Given the description of an element on the screen output the (x, y) to click on. 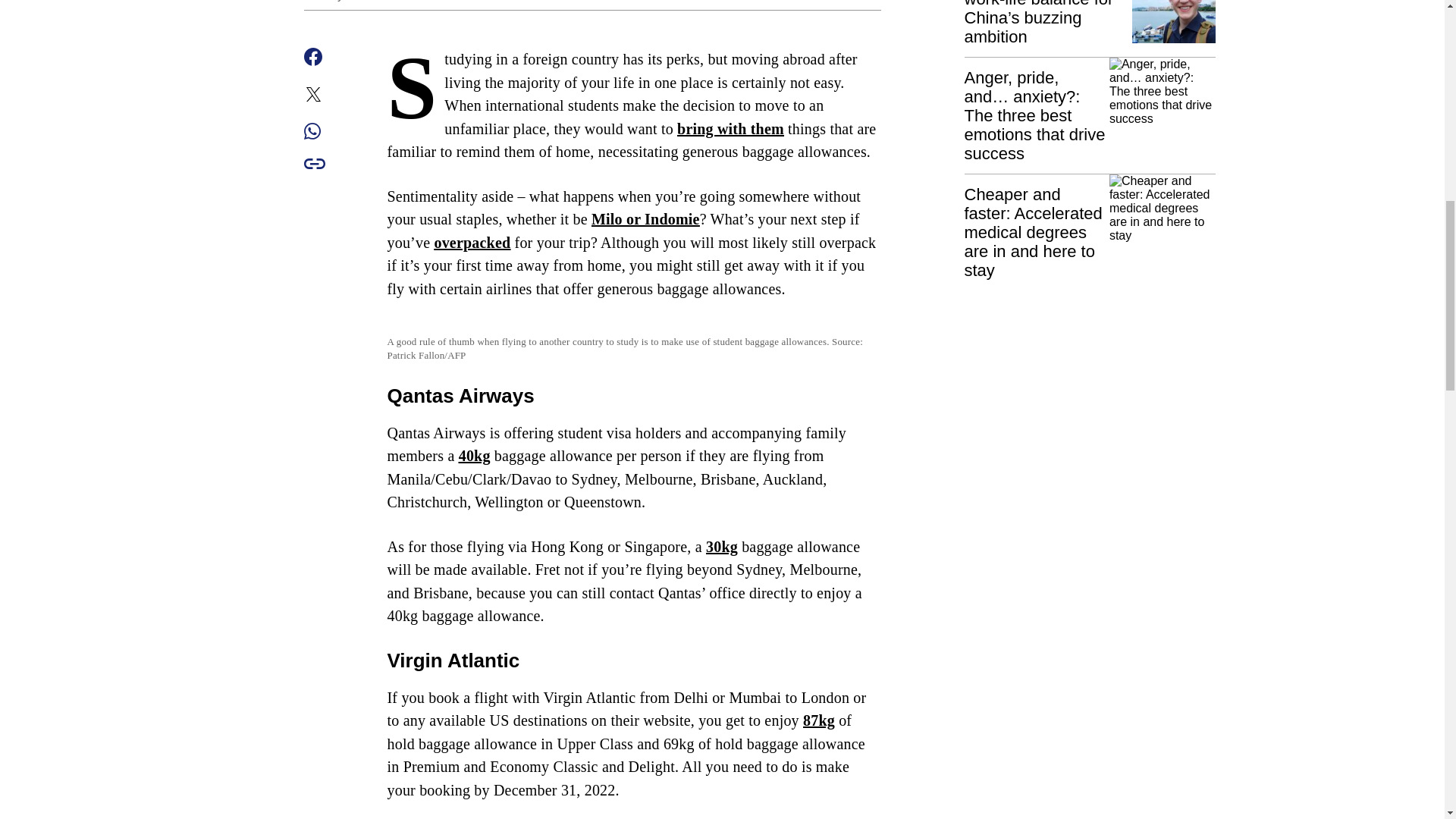
bring with them (730, 128)
30kg (722, 546)
overpacked (472, 242)
87kg (818, 719)
40kg (474, 455)
Milo or Indomie (645, 218)
